Given the description of an element on the screen output the (x, y) to click on. 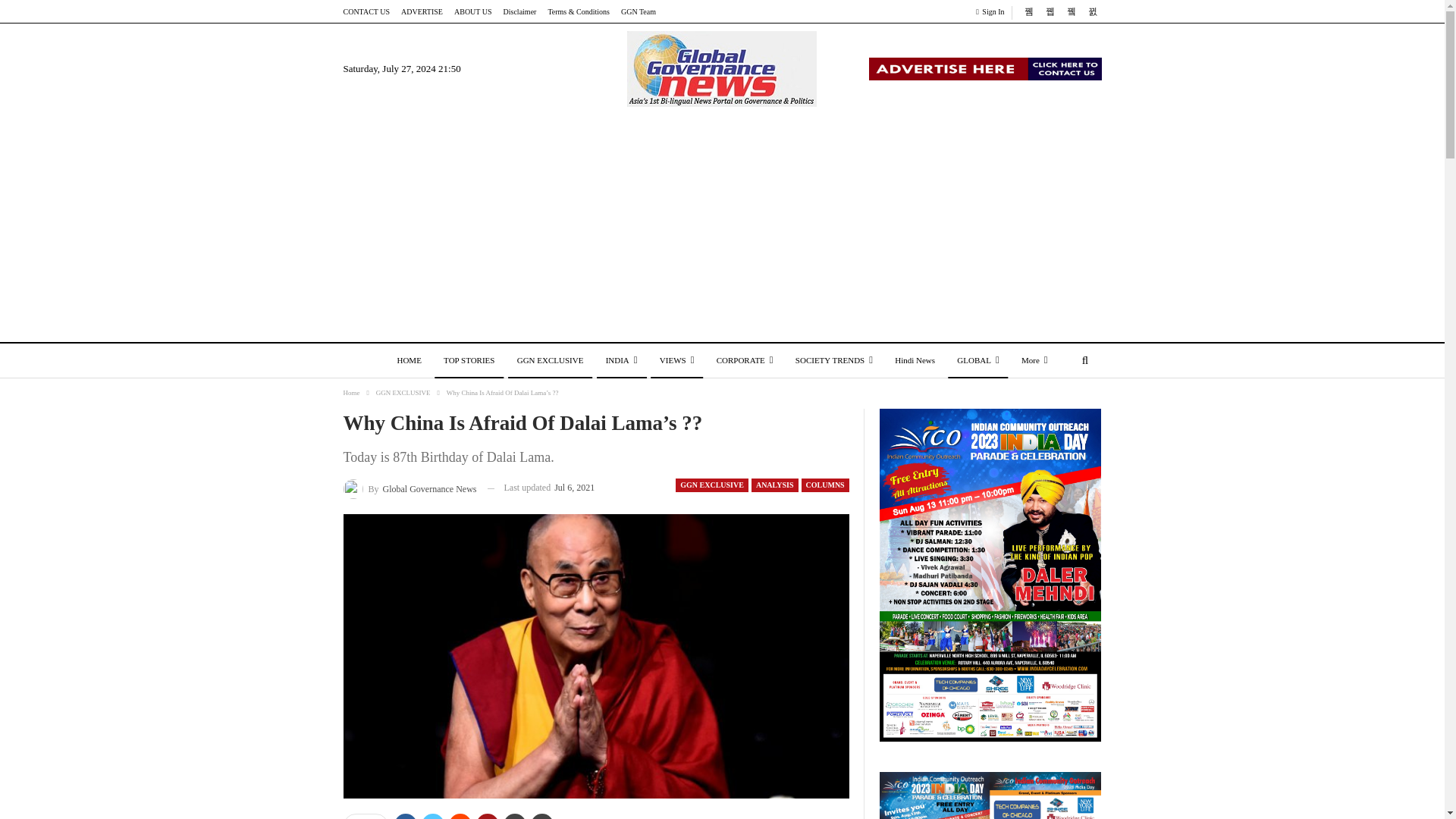
INDIA (621, 361)
VIEWS (676, 361)
HOME (408, 361)
GGN Team (638, 11)
Disclaimer (520, 11)
CONTACT US (366, 11)
ABOUT US (473, 11)
Sign In (992, 11)
GGN EXCLUSIVE (550, 361)
ADVERTISE (421, 11)
TOP STORIES (468, 361)
